Given the description of an element on the screen output the (x, y) to click on. 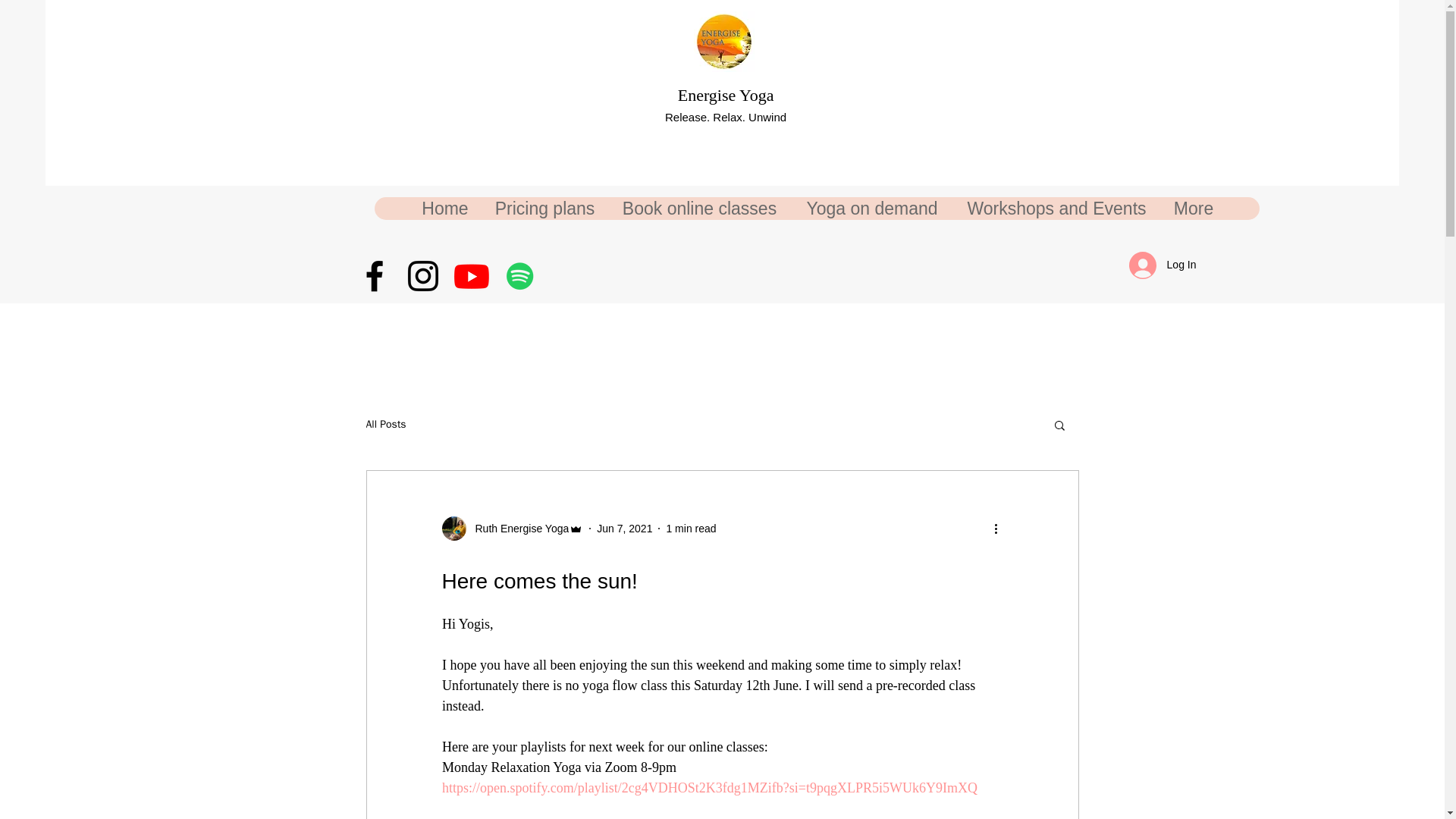
Energise Yoga (726, 94)
Ruth Energise Yoga (512, 528)
1 min read (690, 527)
Ruth Energise Yoga  (517, 528)
Log In (1162, 265)
Book online classes (698, 208)
Pricing plans (544, 208)
Jun 7, 2021 (624, 527)
Yoga on demand (871, 208)
Home (444, 208)
Workshops and Events (1056, 208)
All Posts (385, 424)
